Given the description of an element on the screen output the (x, y) to click on. 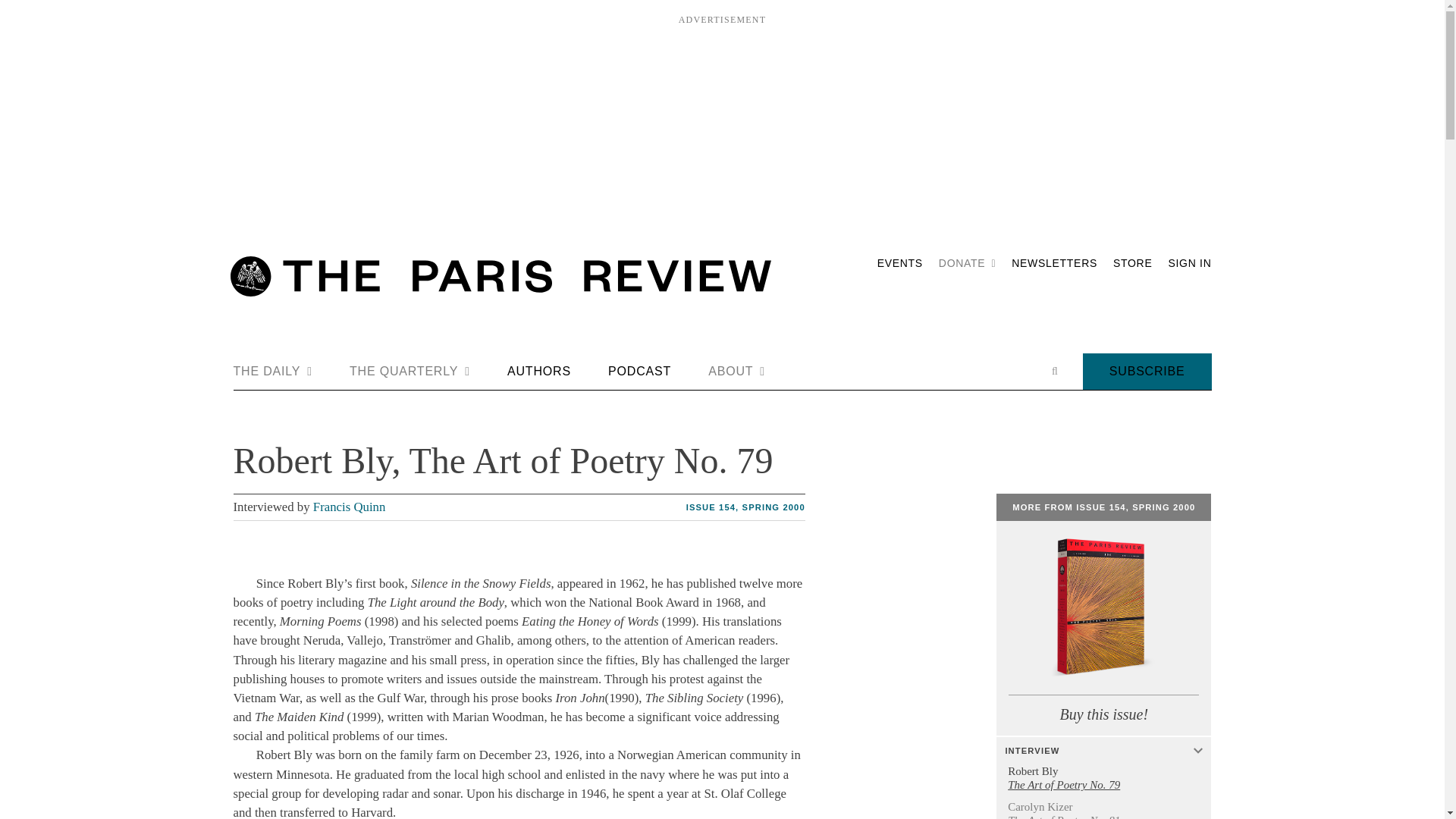
THE QUARTERLY (409, 371)
THE DAILY (272, 371)
Open search (1054, 371)
